Given the description of an element on the screen output the (x, y) to click on. 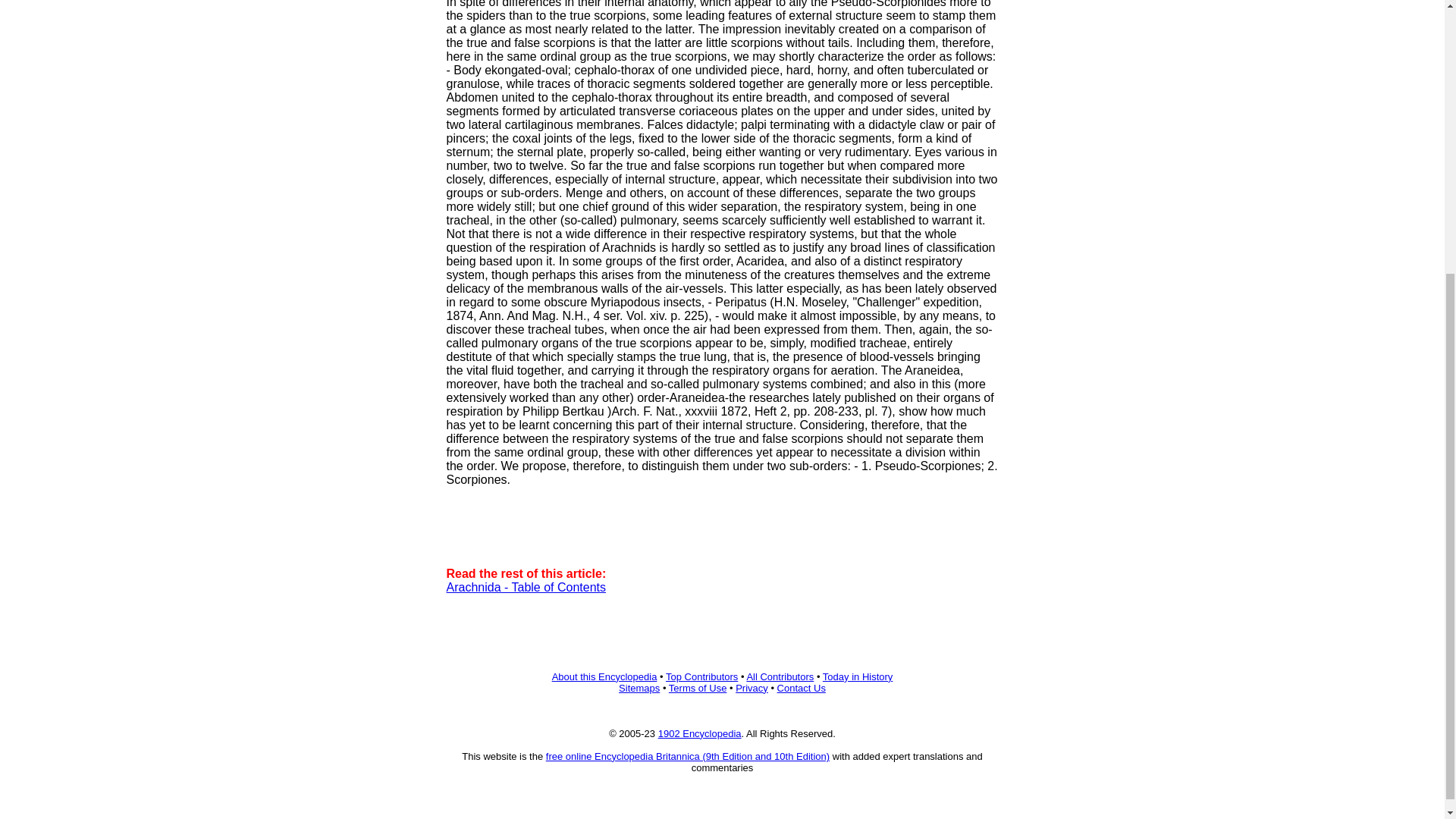
About this Encyclopedia (604, 676)
Arachnida - Table of Contents (525, 586)
All Contributors (779, 676)
Contact Us (801, 687)
Terms of Use (697, 687)
Privacy (751, 687)
Top Contributors (701, 676)
1902 Encyclopedia (699, 733)
Today in History (857, 676)
Sitemaps (638, 687)
